Given the description of an element on the screen output the (x, y) to click on. 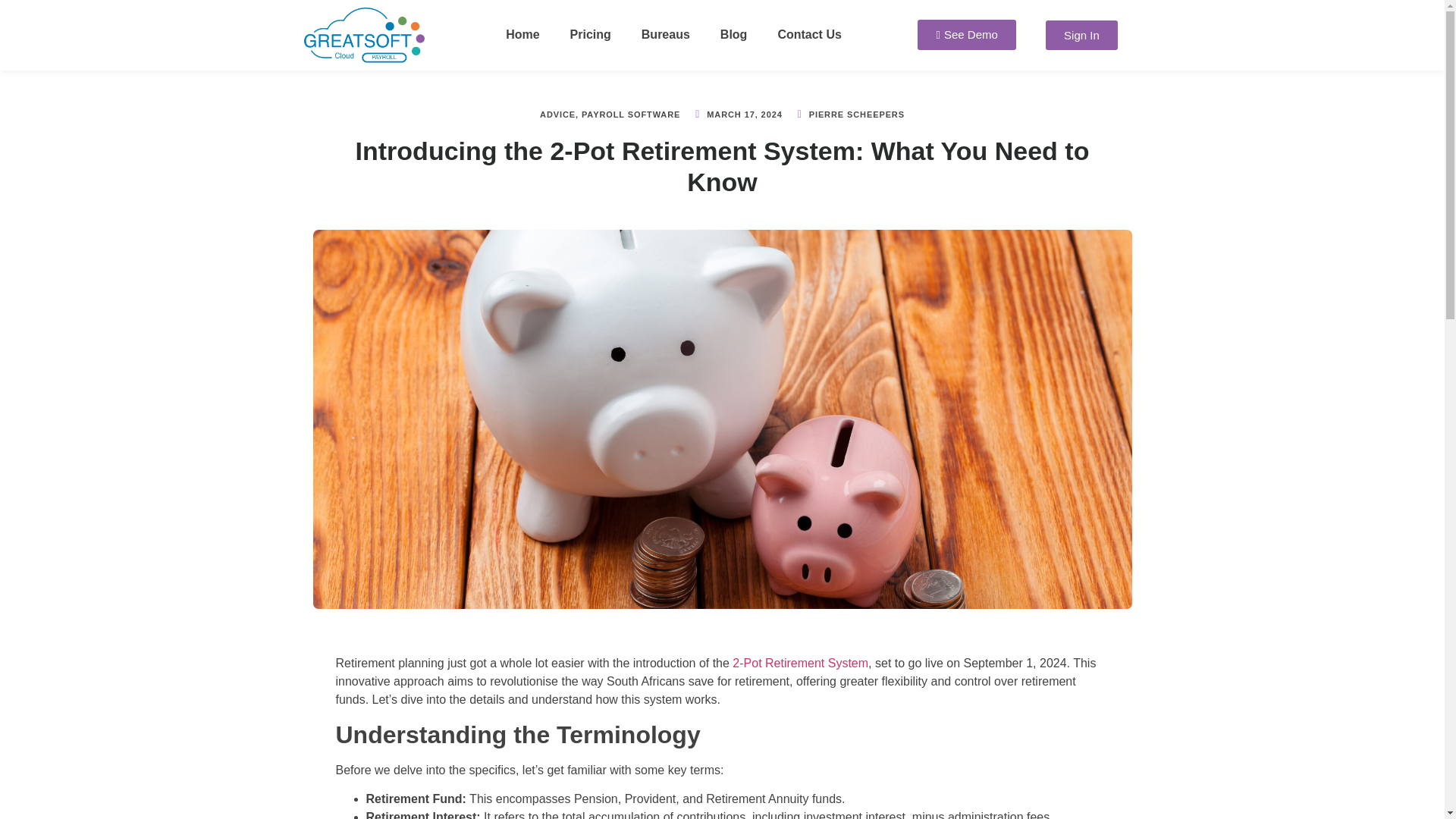
Bureaus (665, 34)
MARCH 17, 2024 (737, 114)
PAYROLL SOFTWARE (629, 113)
Pricing (590, 34)
Contact Us (808, 34)
PIERRE SCHEEPERS (849, 114)
2-Pot Retirement System (799, 662)
Blog (733, 34)
See Demo (965, 34)
Sign In (1081, 34)
